Given the description of an element on the screen output the (x, y) to click on. 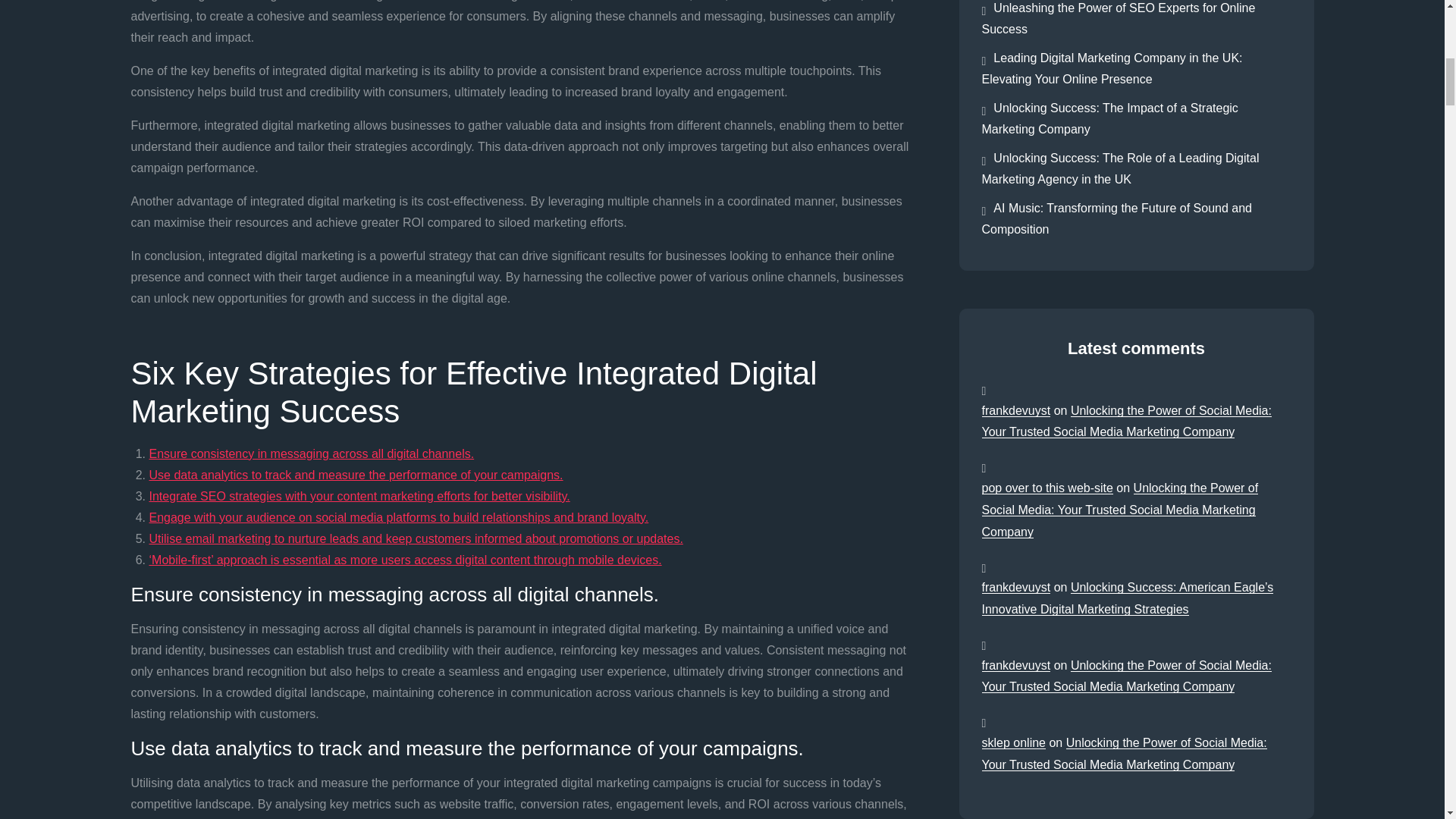
Ensure consistency in messaging across all digital channels. (311, 453)
